Given the description of an element on the screen output the (x, y) to click on. 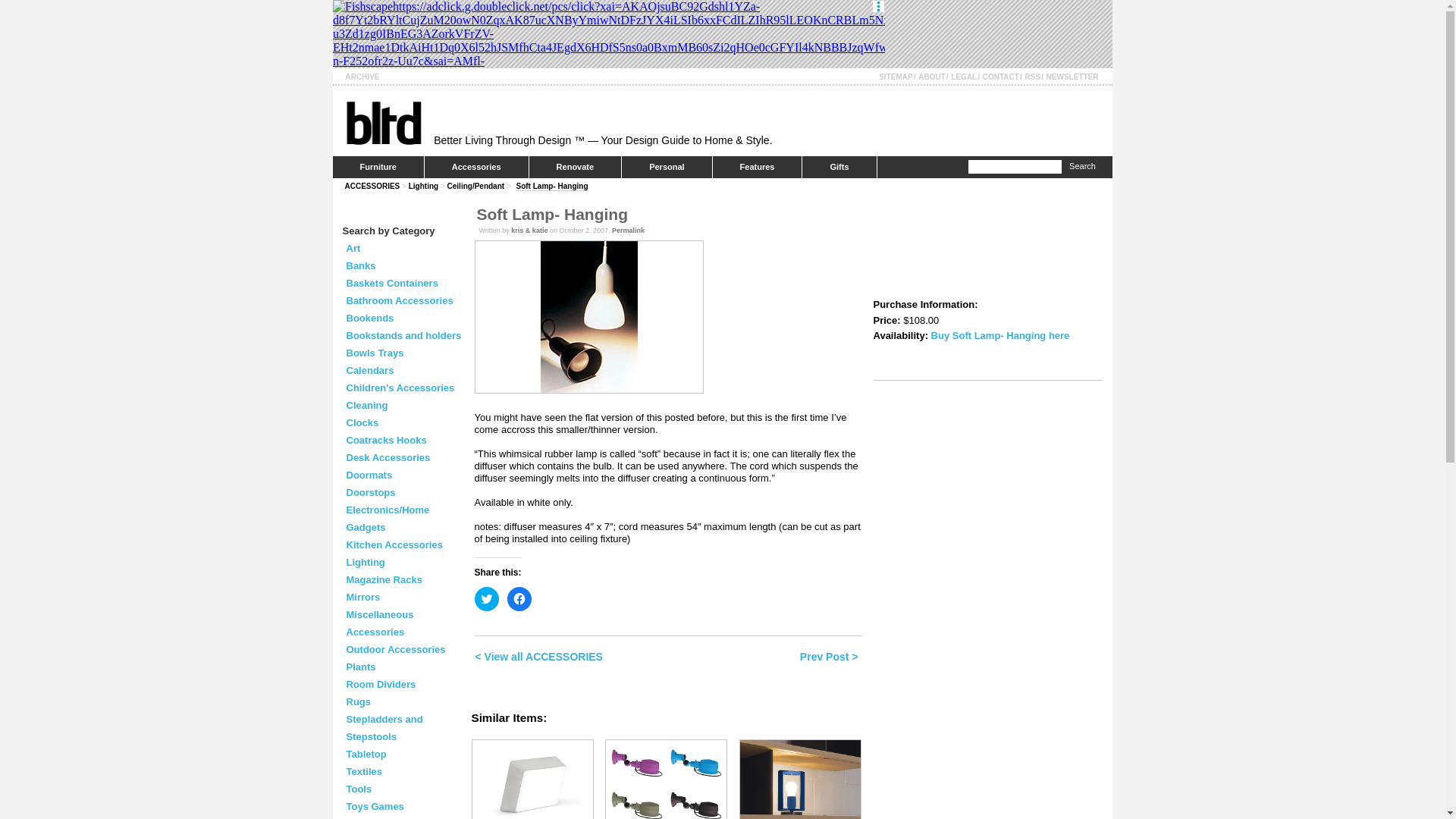
Banks (360, 265)
Bookstands and holders (403, 335)
3rd party ad content (607, 33)
RSS (1033, 76)
Clocks (362, 422)
NEWSLETTER (1072, 76)
Gifts (839, 167)
Accessories (476, 167)
Furniture (377, 167)
CONTACT (1000, 76)
